Given the description of an element on the screen output the (x, y) to click on. 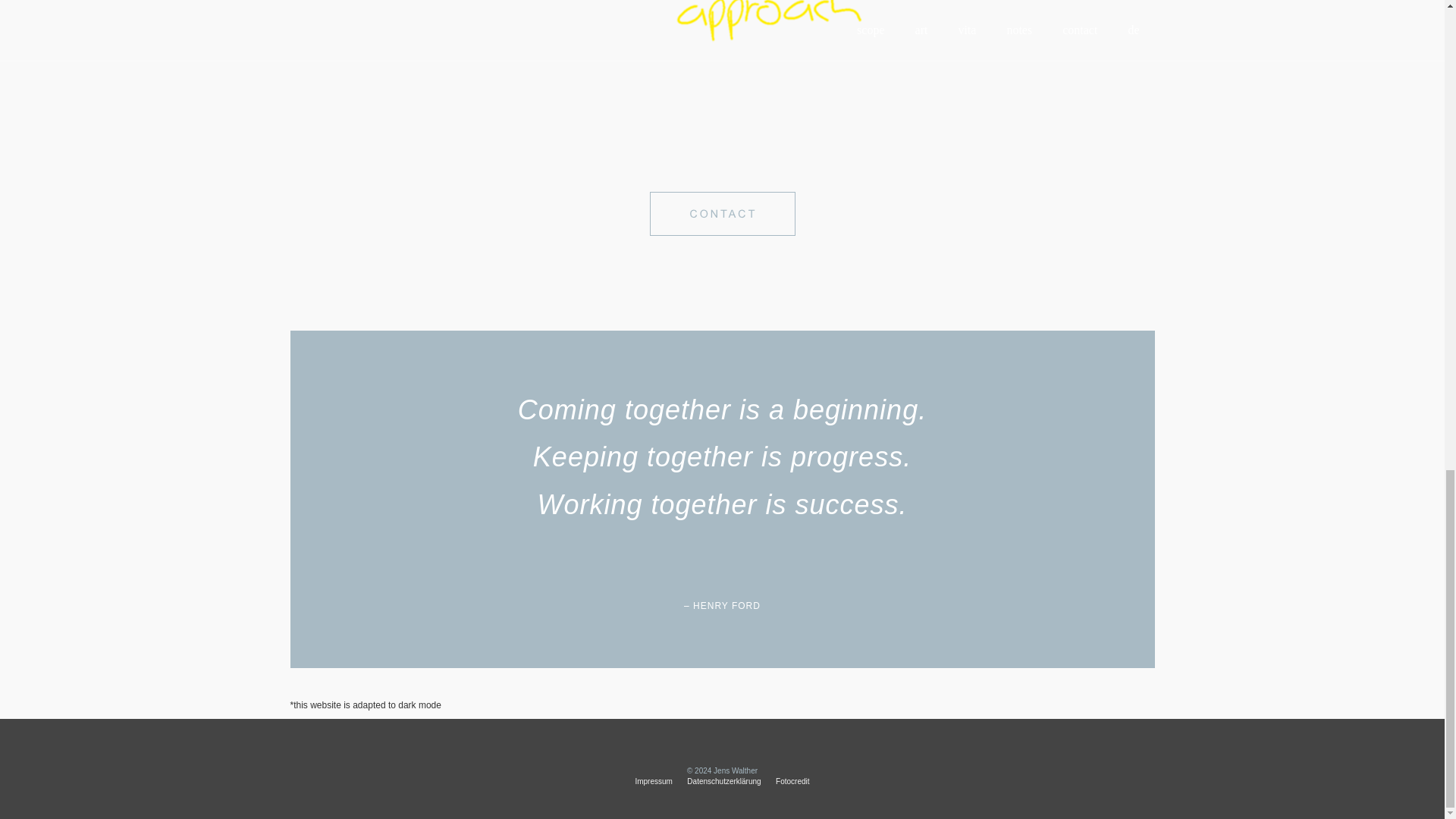
Fotocredit (792, 781)
Impressum (652, 781)
